Given the description of an element on the screen output the (x, y) to click on. 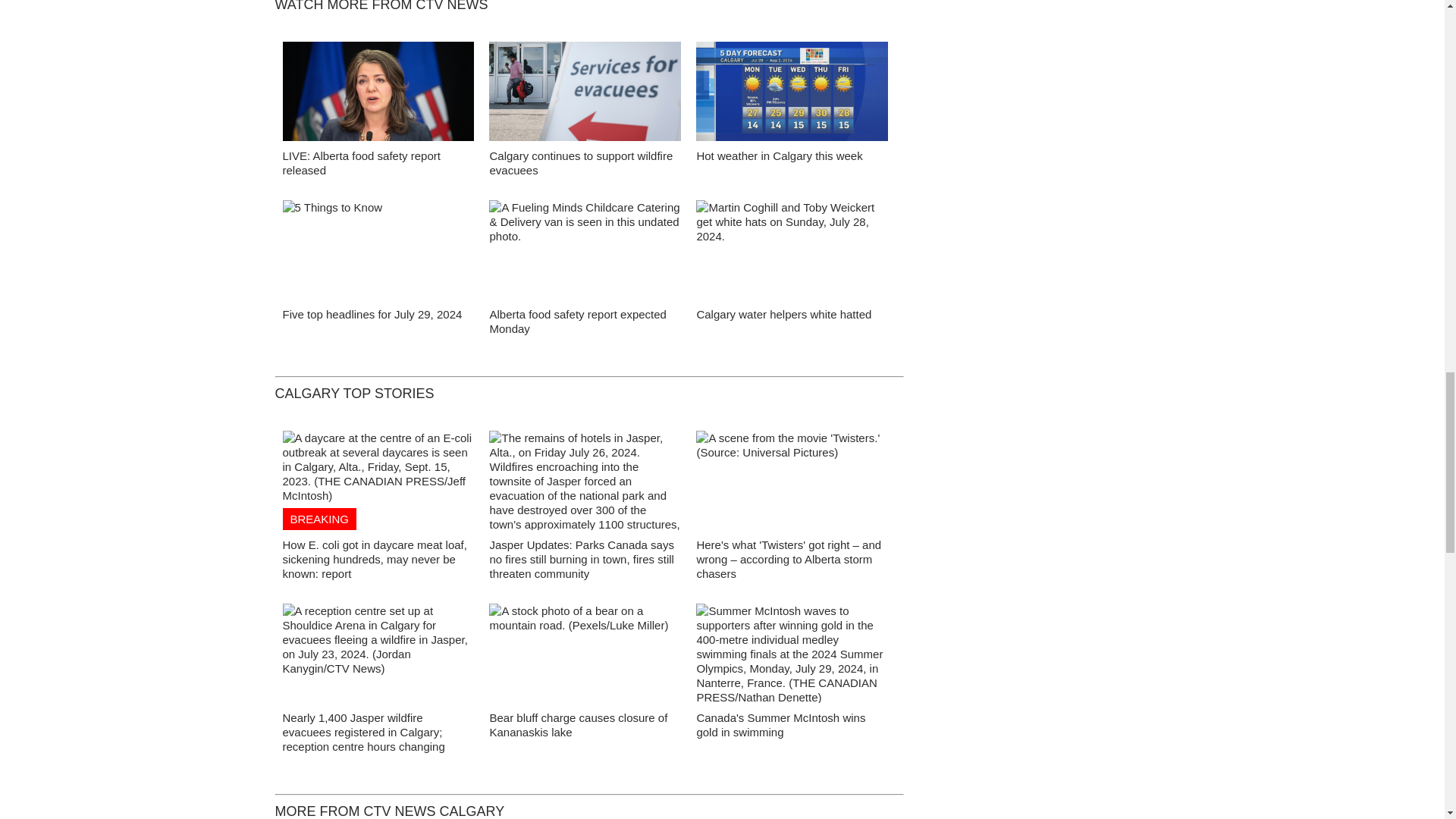
false (585, 249)
Five top headlines for July 29, 2024 (371, 314)
Calgary continues to support wildfire evacuees (580, 162)
false (791, 249)
LIVE: Alberta food safety report released (360, 162)
false (791, 90)
false (378, 90)
Calgary water helpers white hatted (782, 314)
Hot weather in Calgary this week (778, 155)
false (585, 90)
Alberta food safety report expected Monday (577, 320)
false (378, 249)
